Given the description of an element on the screen output the (x, y) to click on. 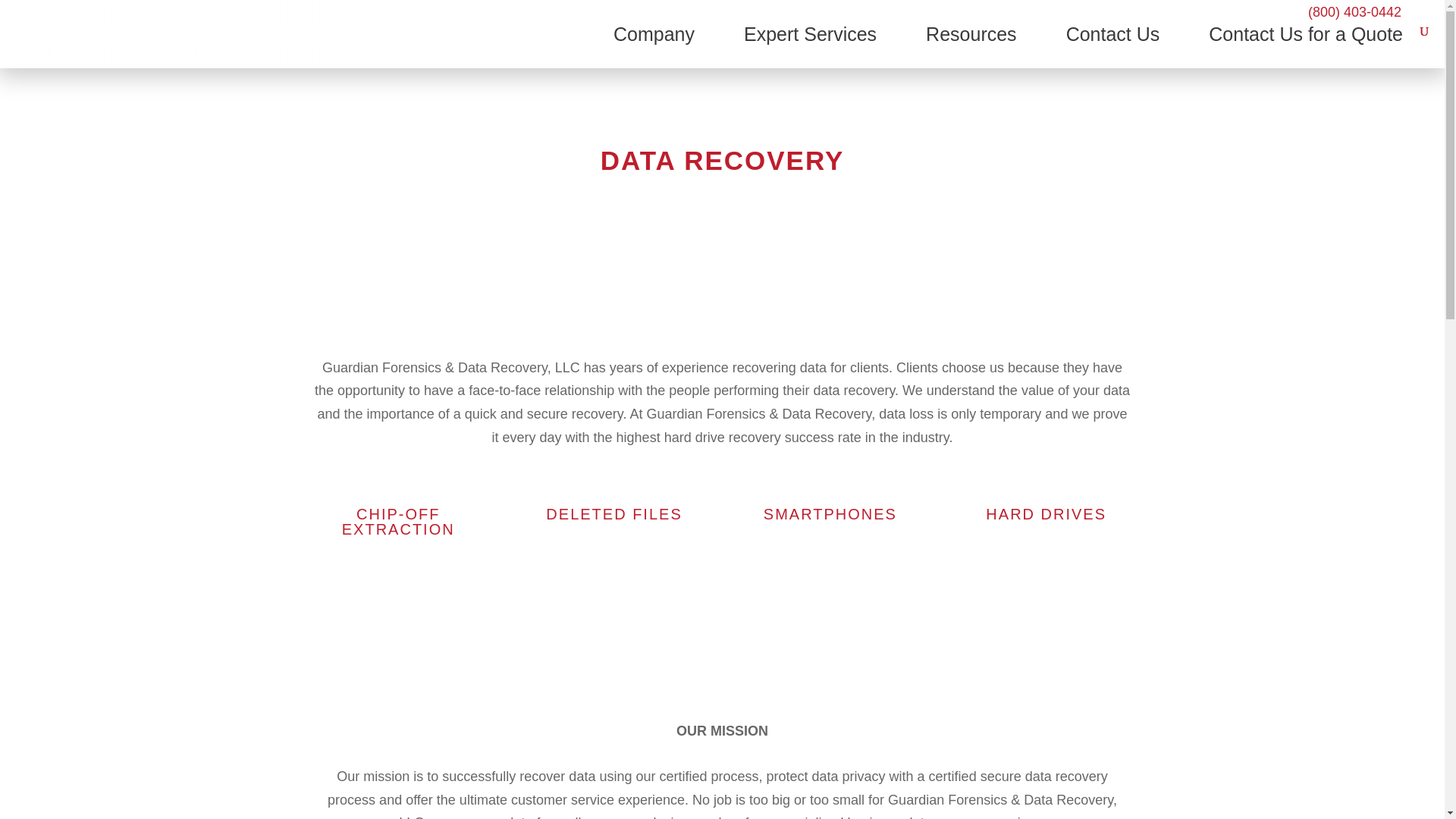
Resources (971, 46)
Expert Services (810, 46)
Company (653, 46)
